Given the description of an element on the screen output the (x, y) to click on. 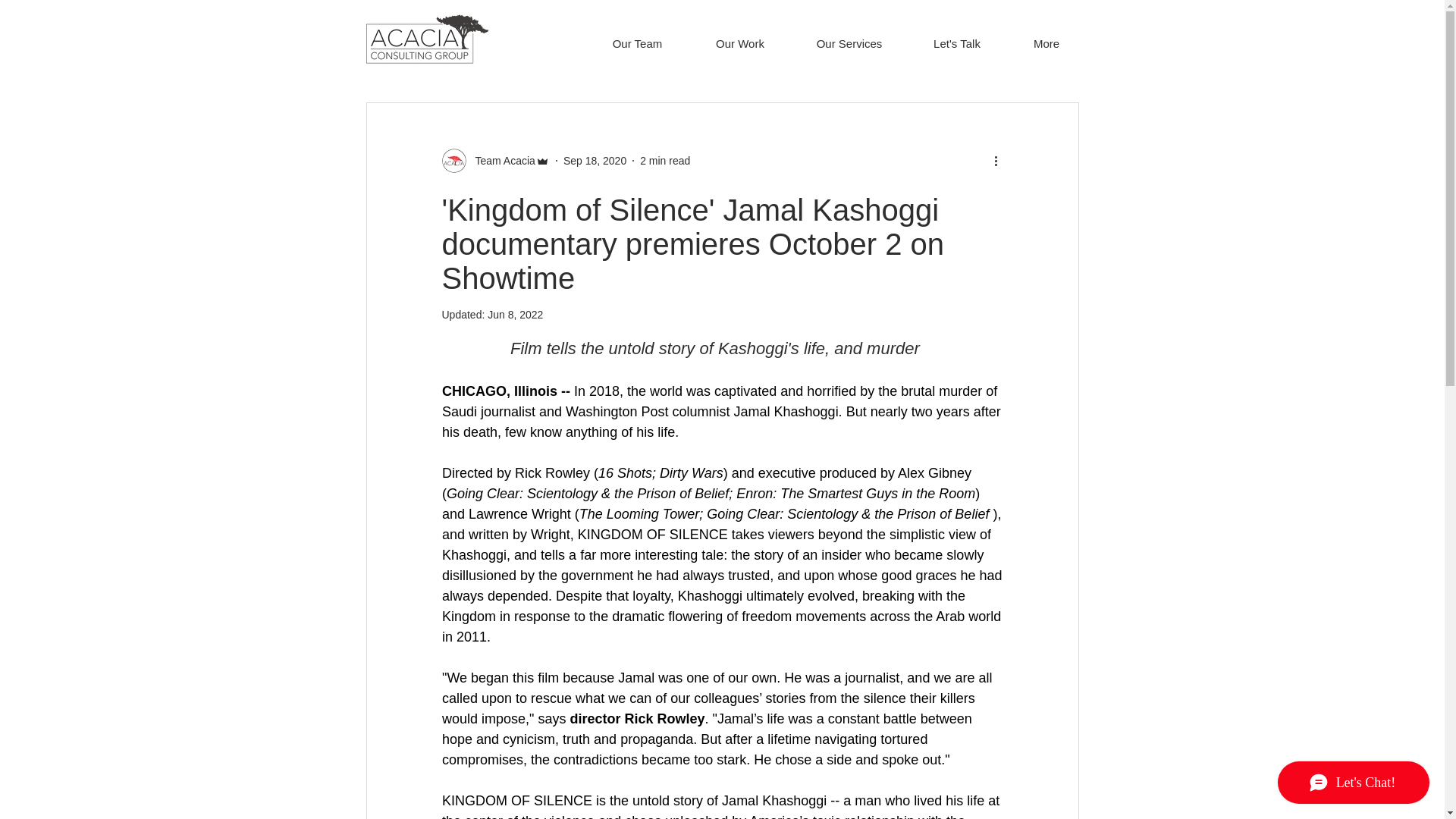
Our Team (636, 43)
Our Services (849, 43)
Team Acacia (499, 160)
Jun 8, 2022 (515, 314)
2 min read (665, 160)
Sep 18, 2020 (594, 160)
Our Work (739, 43)
Let's Talk (956, 43)
